Given the description of an element on the screen output the (x, y) to click on. 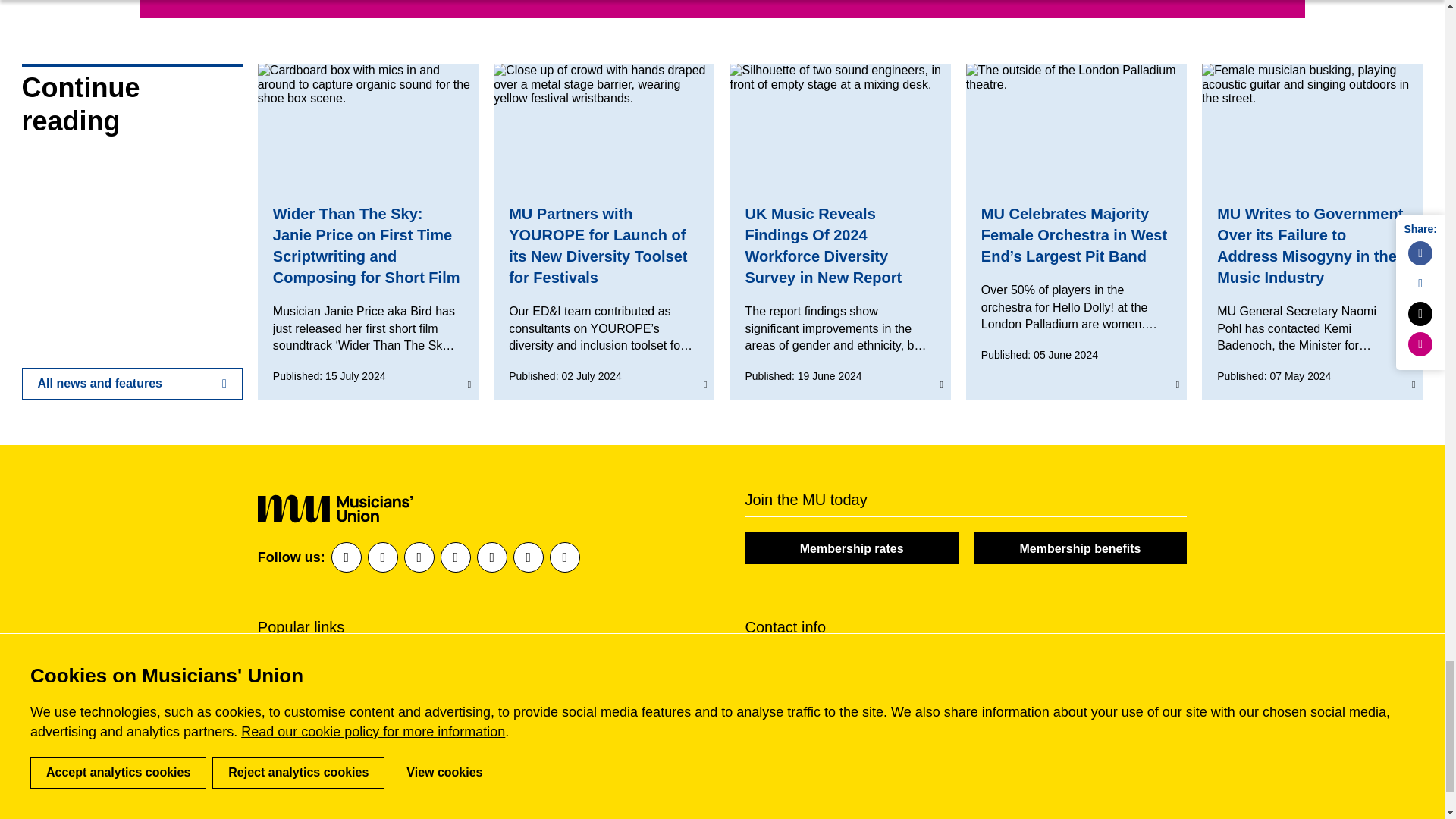
Instagram (455, 557)
Facebook (346, 557)
YouTube (528, 557)
X (418, 557)
LinkedIn (382, 557)
Spotify (491, 557)
TikTok (564, 557)
